Given the description of an element on the screen output the (x, y) to click on. 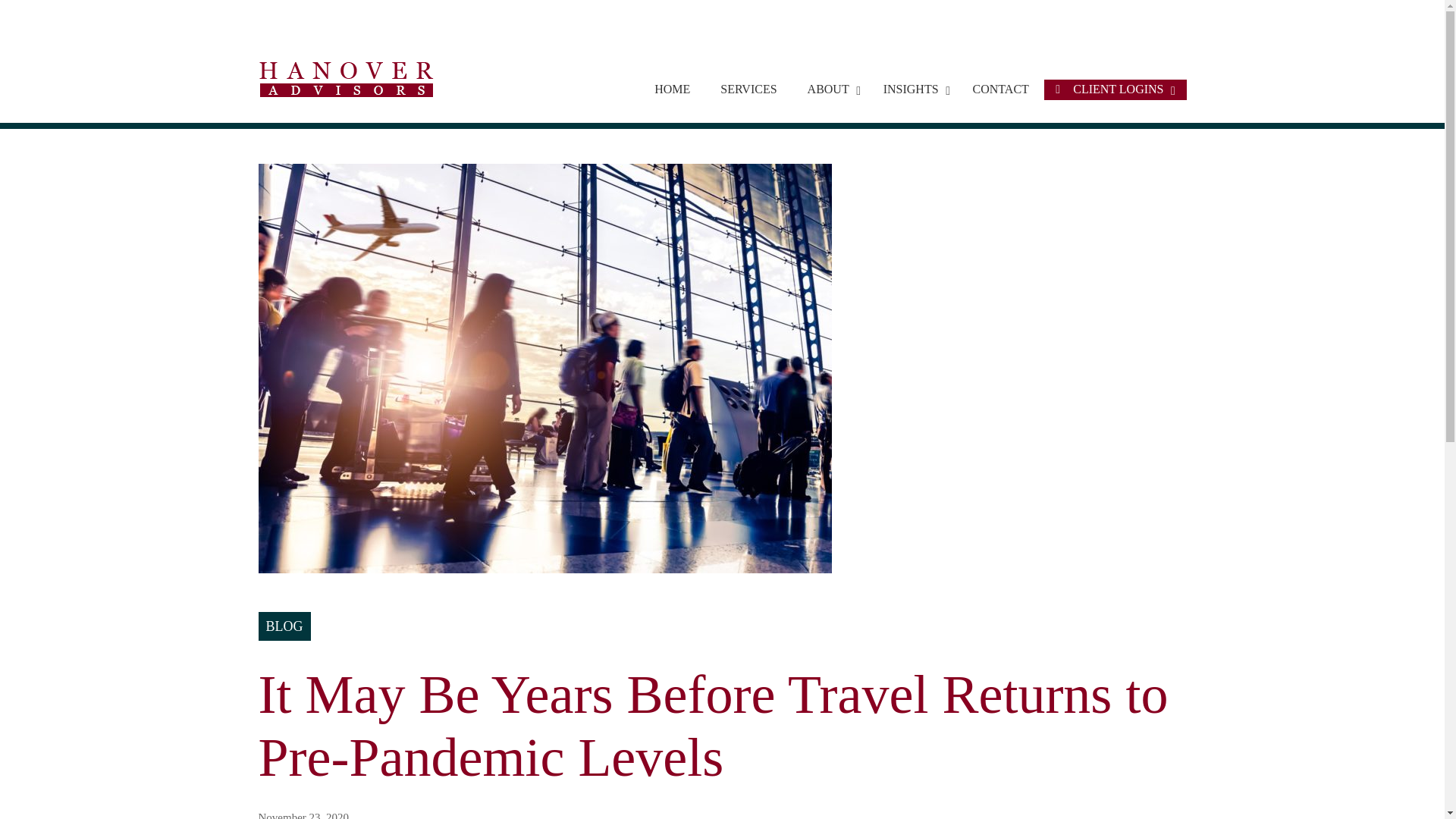
INSIGHTS (912, 89)
HOME (912, 89)
ABOUT (671, 89)
CONTACT (829, 89)
SERVICES (1000, 89)
